Given the description of an element on the screen output the (x, y) to click on. 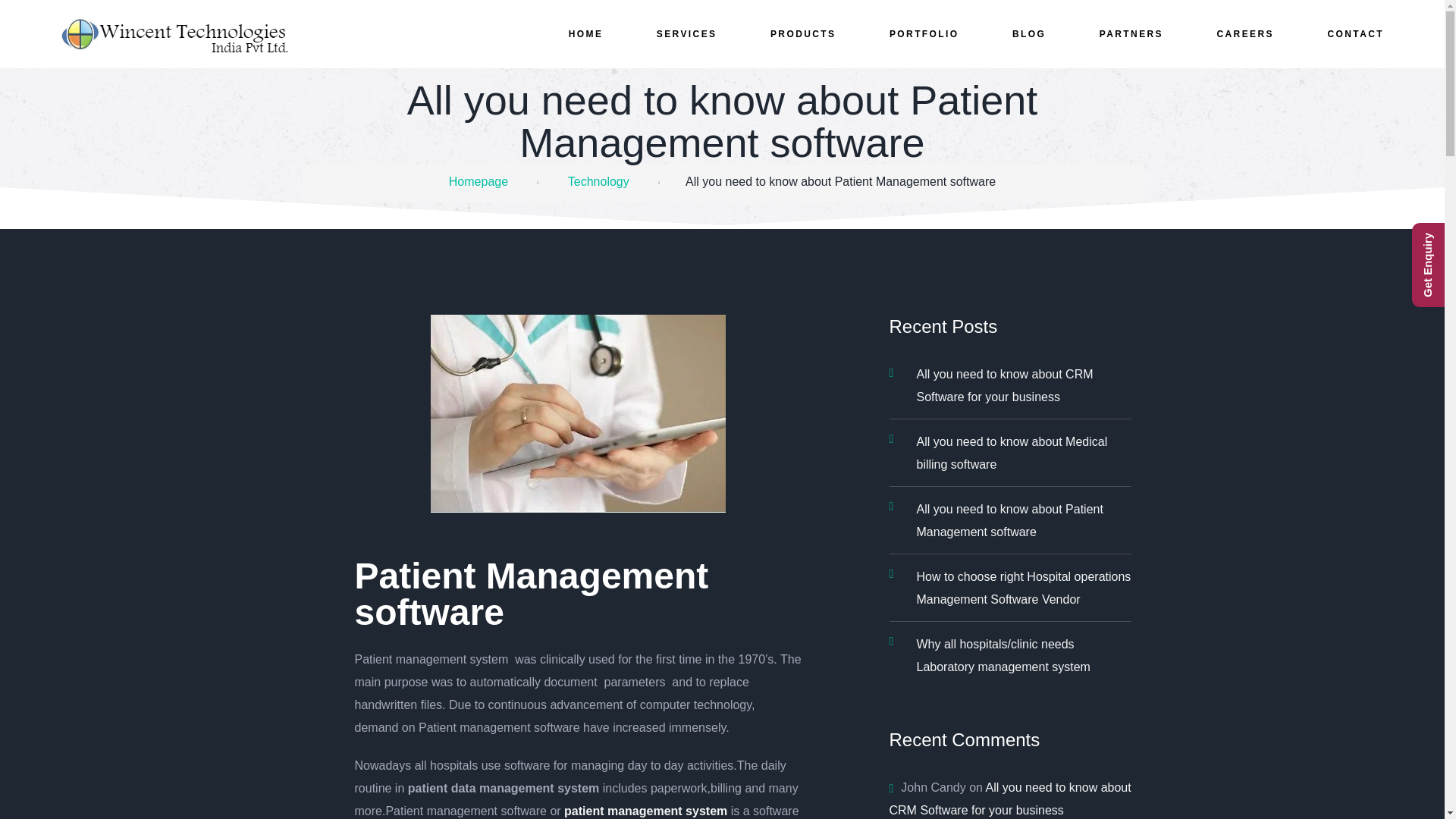
PRODUCTS (802, 34)
HOME (586, 34)
SERVICES (686, 34)
